Given the description of an element on the screen output the (x, y) to click on. 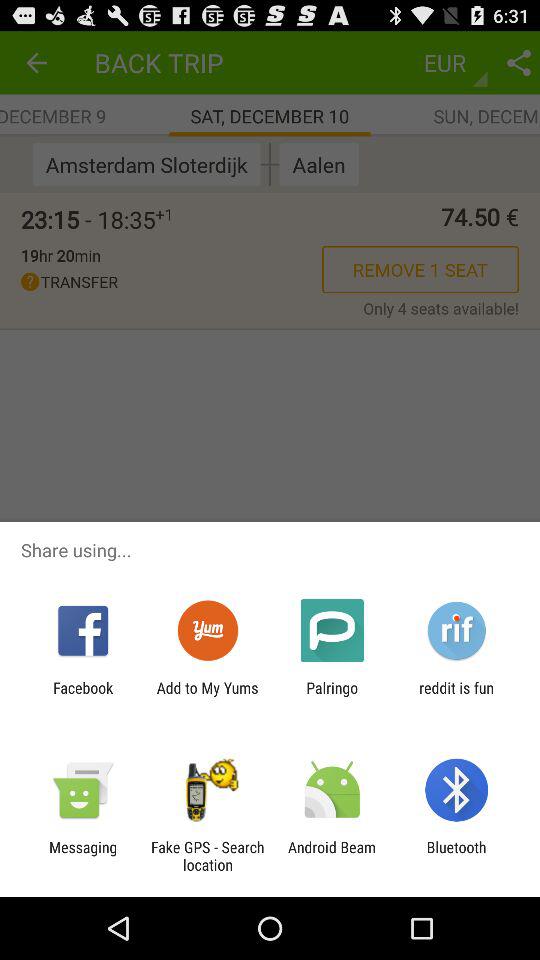
choose reddit is fun (456, 696)
